Given the description of an element on the screen output the (x, y) to click on. 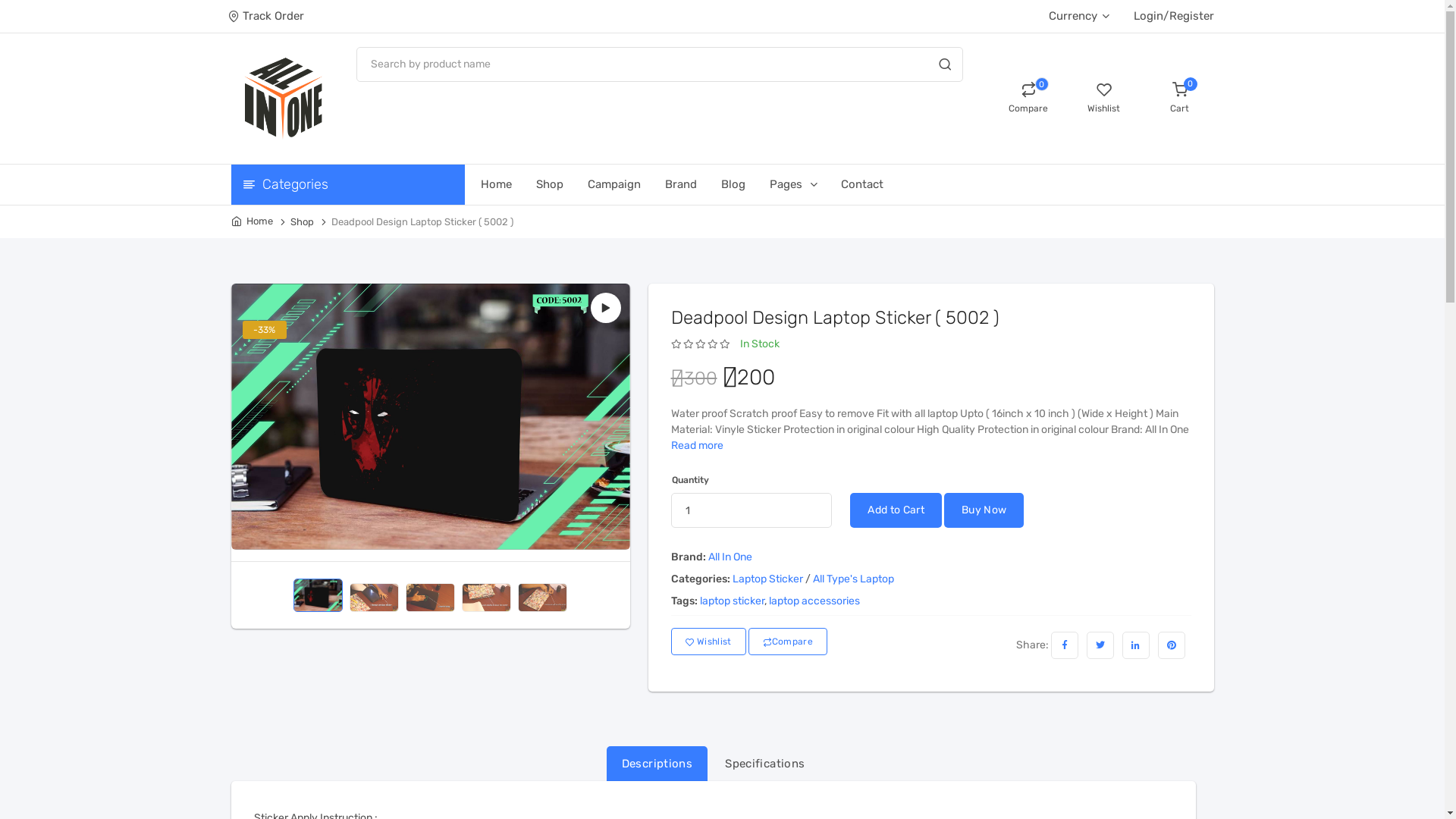
Shop Element type: text (560, 183)
Wishlist Element type: text (1103, 98)
Pages Element type: text (804, 183)
Contact Element type: text (873, 183)
Descriptions Element type: text (657, 763)
Shop Element type: text (301, 221)
Compare Element type: text (787, 641)
All Type's Laptop Element type: text (853, 578)
All In One Element type: text (730, 556)
laptop accessories Element type: text (813, 600)
Blog Element type: text (744, 183)
Brand Element type: text (692, 183)
laptop sticker Element type: text (731, 600)
Track Order Element type: text (266, 16)
Laptop Sticker Element type: text (767, 578)
Currency Element type: text (1077, 15)
Add to Cart Element type: text (895, 509)
Home Element type: text (506, 183)
0
Cart Element type: text (1179, 98)
Home Element type: text (251, 220)
Read more Element type: text (696, 445)
Wishlist Element type: text (707, 641)
Login/Register Element type: text (1172, 16)
0
Compare Element type: text (1027, 98)
Campaign Element type: text (625, 183)
Buy Now Element type: text (983, 509)
Specifications Element type: text (764, 763)
